Given the description of an element on the screen output the (x, y) to click on. 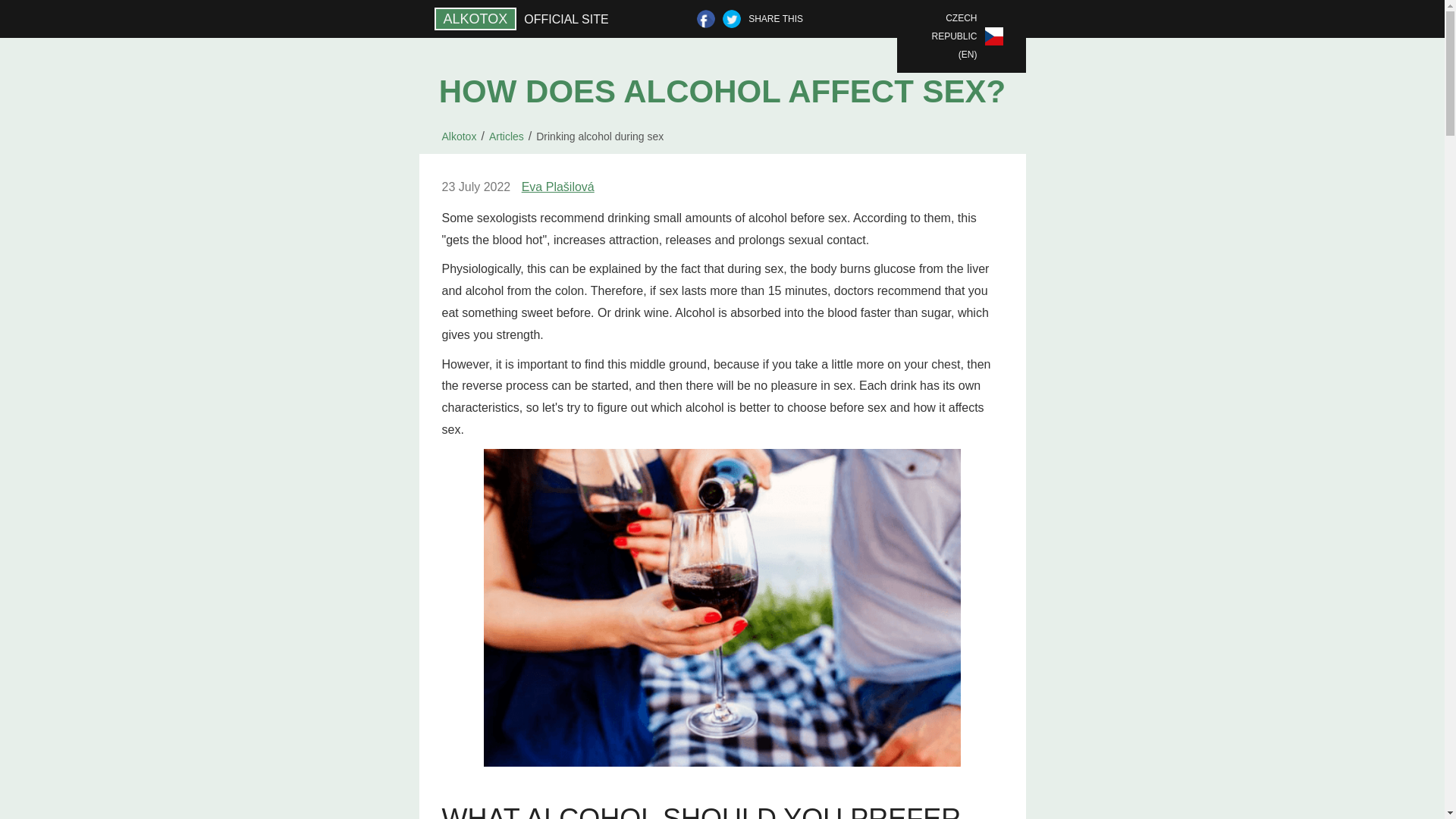
Twitter (731, 18)
23 July 2022 (476, 187)
Facebook (705, 18)
Articles (506, 136)
Alkotox (458, 136)
Drinking alcohol during sex (599, 136)
ALKOTOX OFFICIAL SITE (524, 18)
